Given the description of an element on the screen output the (x, y) to click on. 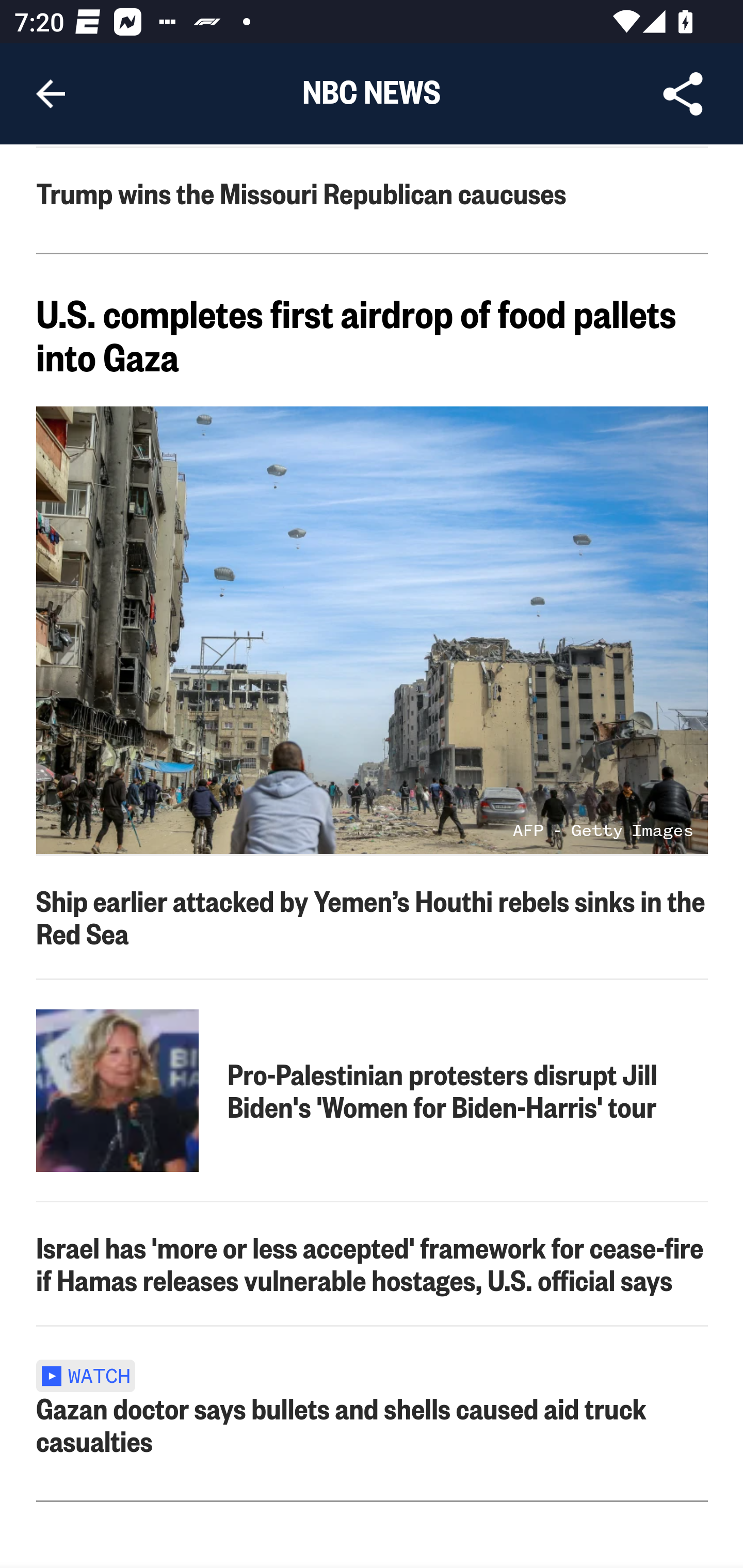
Navigate up (50, 93)
Share Article, button (683, 94)
Trump wins the Missouri Republican caucuses (372, 193)
WATCH WATCH WATCH WATCH (91, 1372)
